Given the description of an element on the screen output the (x, y) to click on. 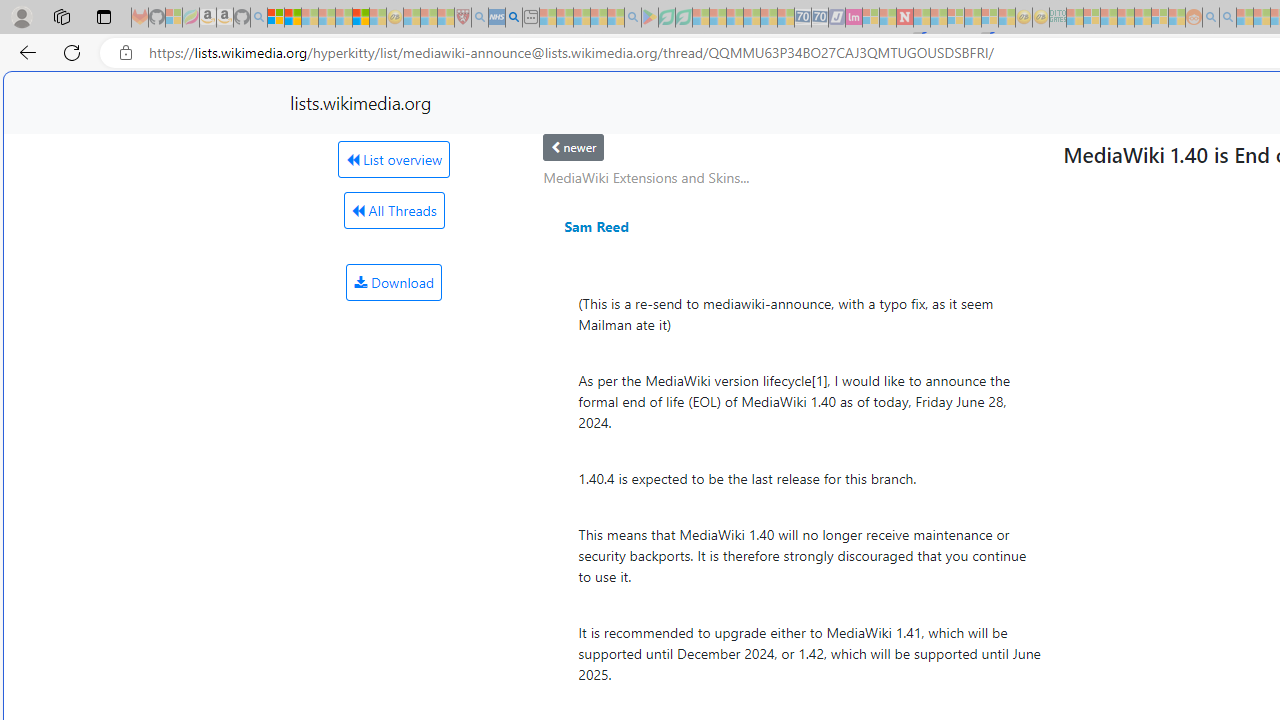
Trusted Community Engagement and Contributions | Guidelines (921, 17)
Utah sues federal government - Search - Sleeping (1227, 17)
Microsoft-Report a Concern to Bing - Sleeping (173, 17)
Cheap Hotels - Save70.com - Sleeping (819, 17)
Expert Portfolios - Sleeping (1125, 17)
Bluey: Let's Play! - Apps on Google Play - Sleeping (649, 17)
